Given the description of an element on the screen output the (x, y) to click on. 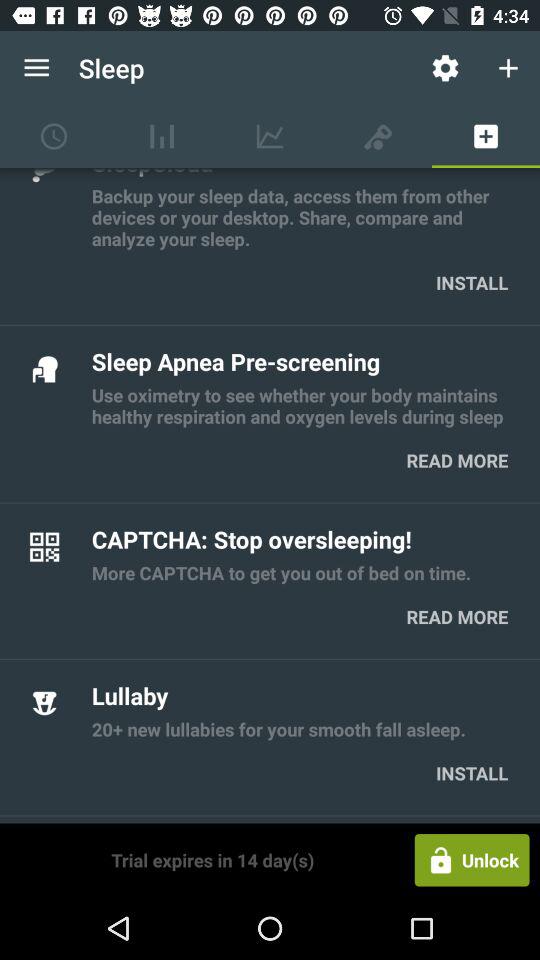
open the icon next to the sleep app (444, 67)
